Given the description of an element on the screen output the (x, y) to click on. 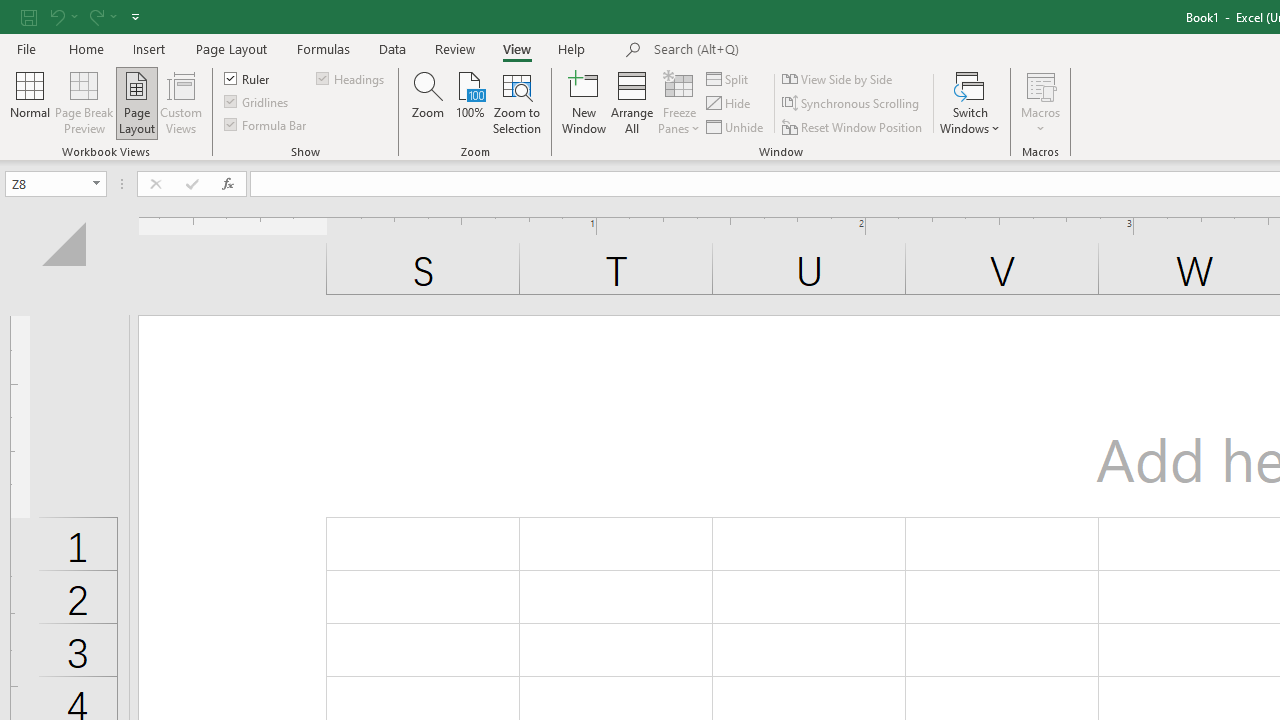
Macros (1040, 102)
Headings (351, 78)
Zoom... (428, 102)
Hide (729, 103)
View Macros (1040, 84)
Reset Window Position (854, 126)
